Given the description of an element on the screen output the (x, y) to click on. 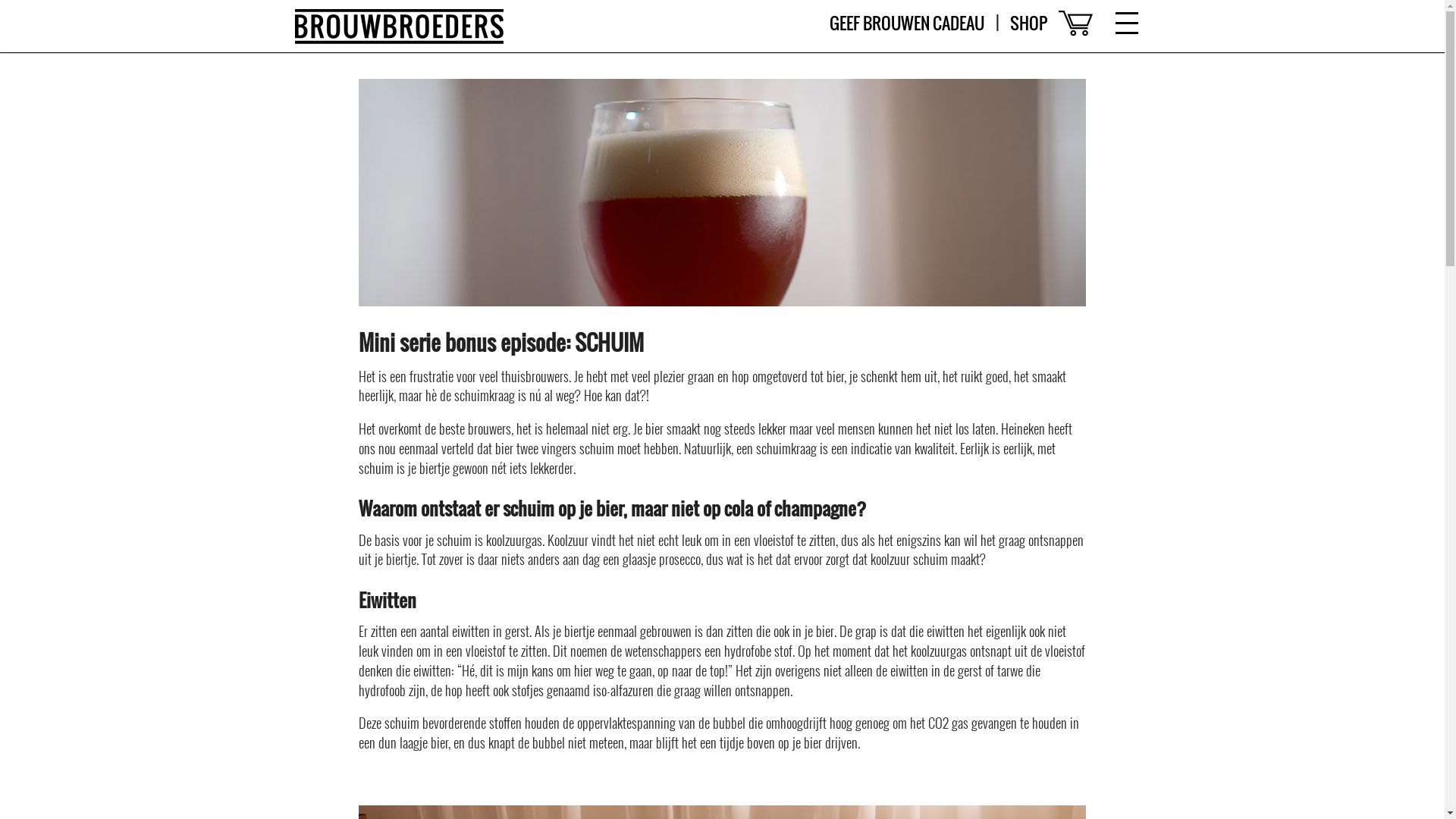
SHOP Element type: text (1028, 23)
GEEF BROUWEN CADEAU Element type: text (906, 23)
